Given the description of an element on the screen output the (x, y) to click on. 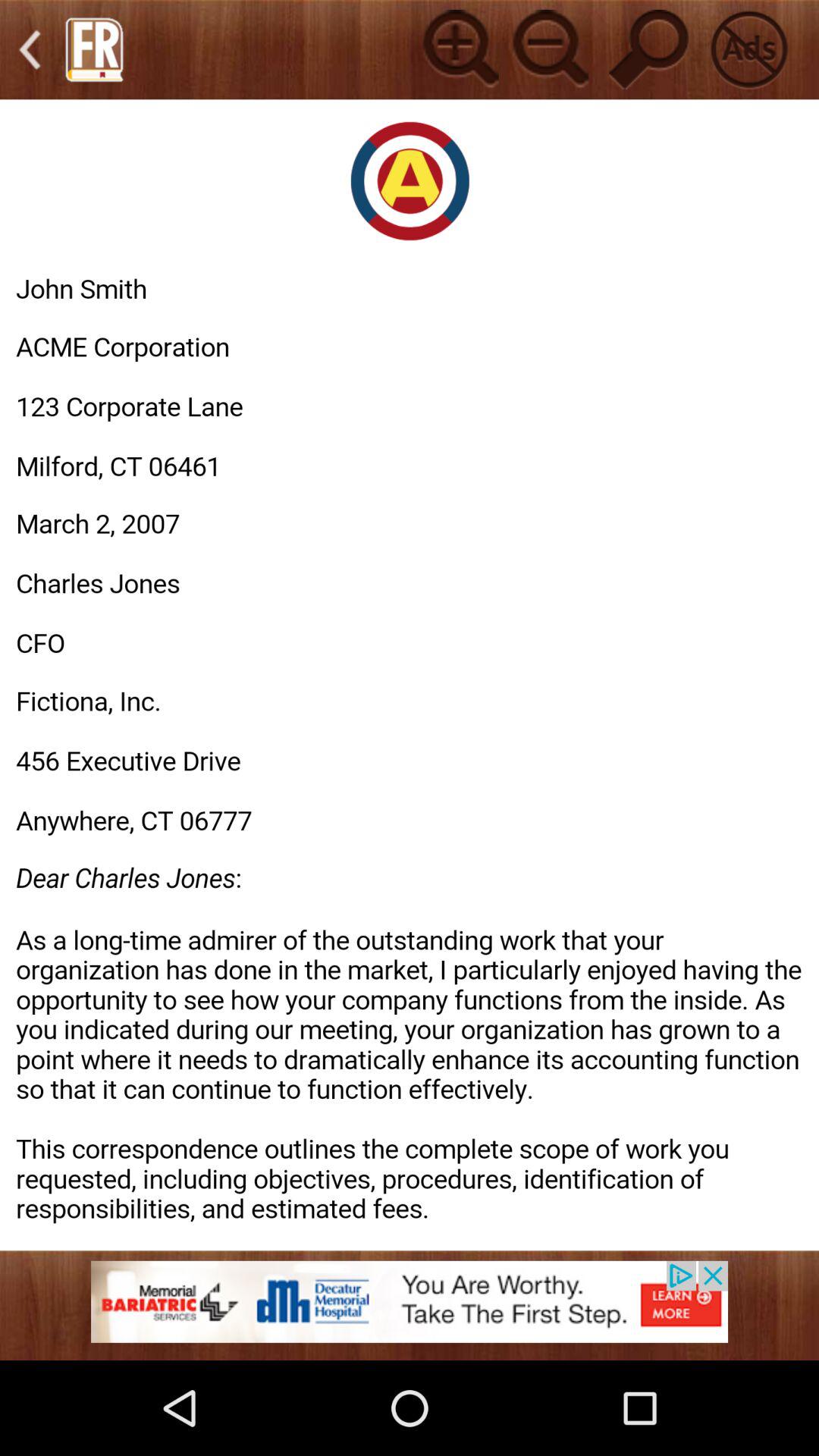
go to add button (458, 49)
